Given the description of an element on the screen output the (x, y) to click on. 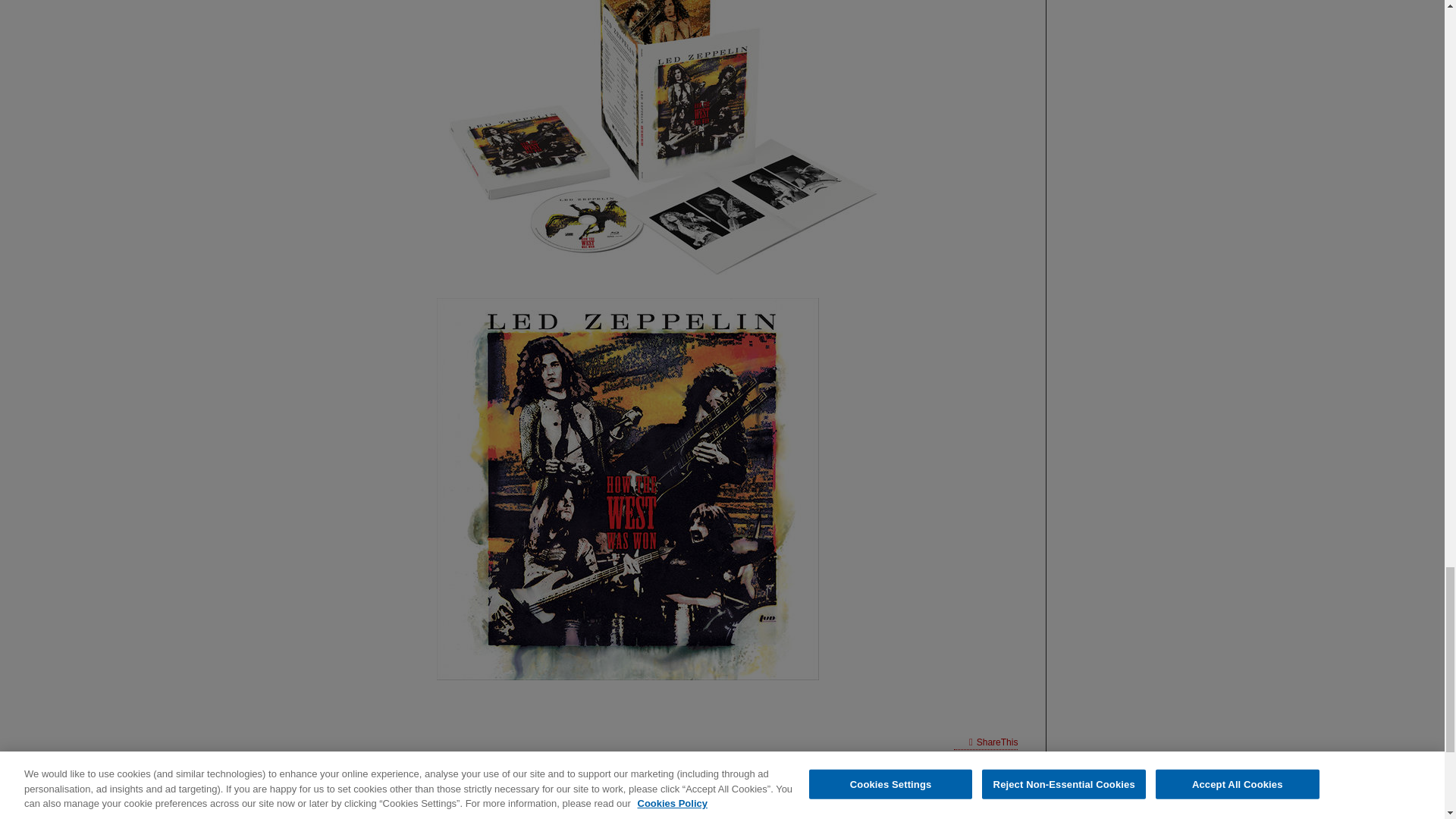
ShareThis (985, 742)
